Given the description of an element on the screen output the (x, y) to click on. 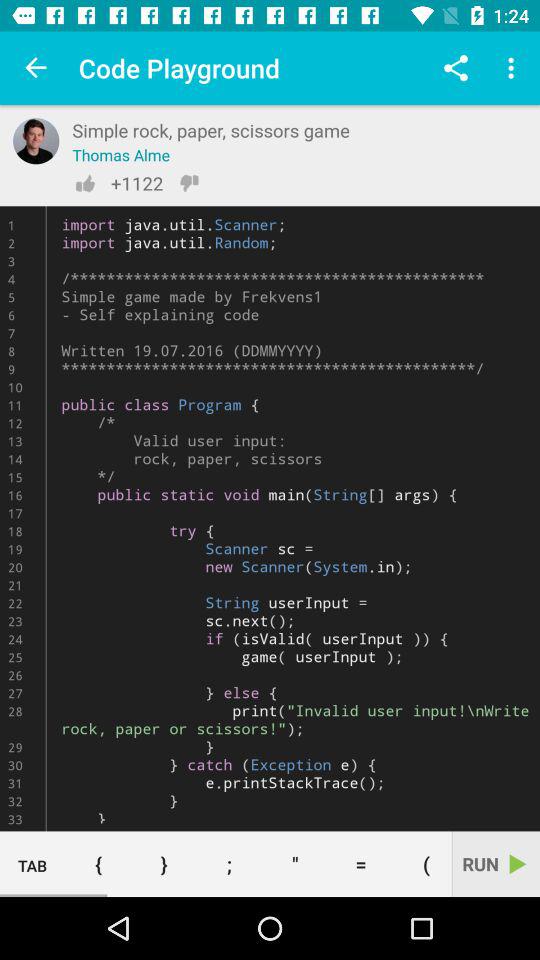
click the button next to } (98, 863)
